Given the description of an element on the screen output the (x, y) to click on. 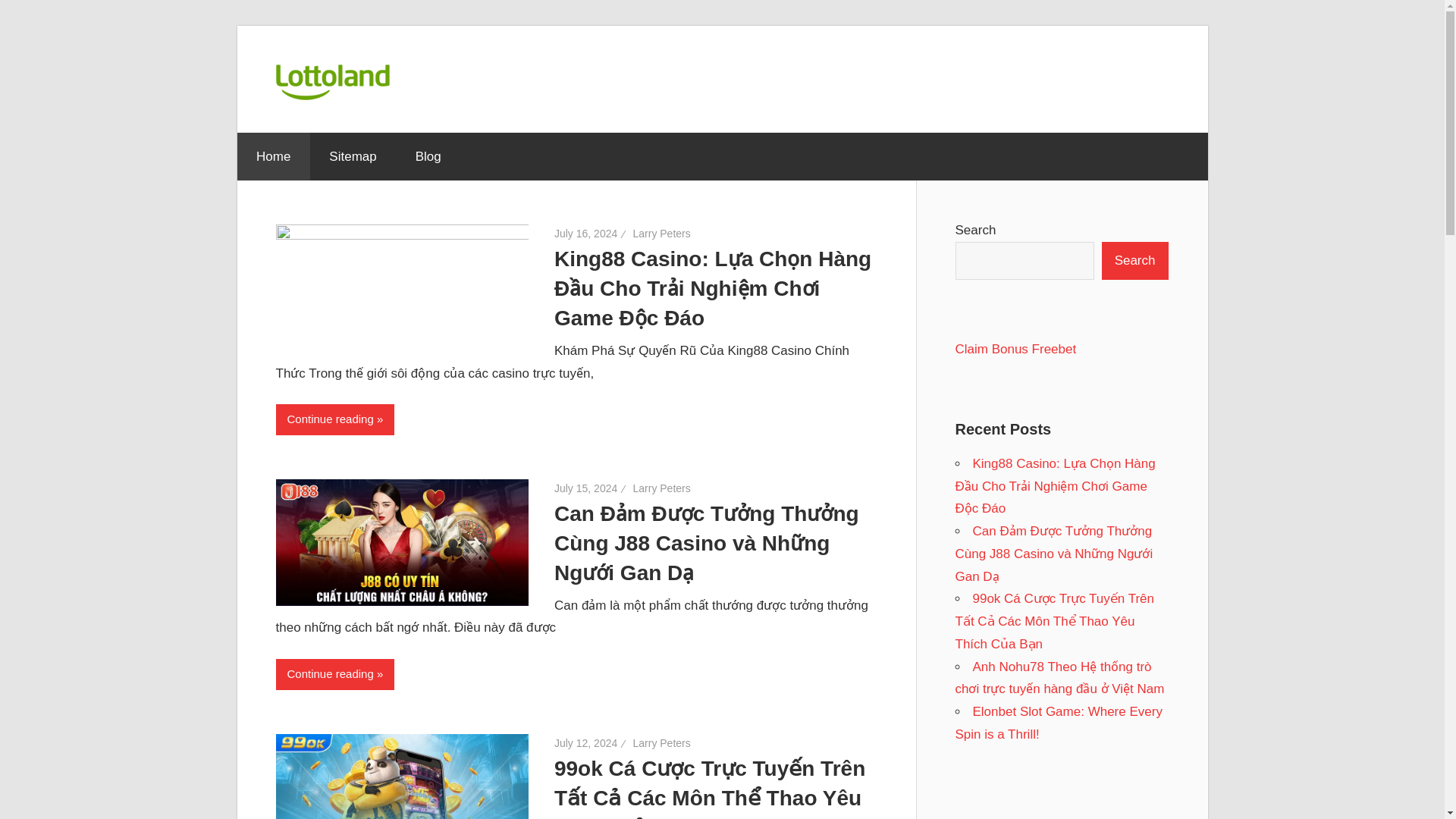
7:54 am (585, 488)
Sitemap (353, 155)
View all posts by Larry Peters (660, 488)
Larry Peters (660, 743)
July 15, 2024 (585, 488)
Continue reading (335, 419)
Blog (428, 155)
Larry Peters (660, 233)
View all posts by Larry Peters (660, 743)
Larry Peters (660, 488)
Continue reading (335, 674)
4:57 am (585, 233)
View all posts by Larry Peters (660, 233)
July 16, 2024 (585, 233)
